Given the description of an element on the screen output the (x, y) to click on. 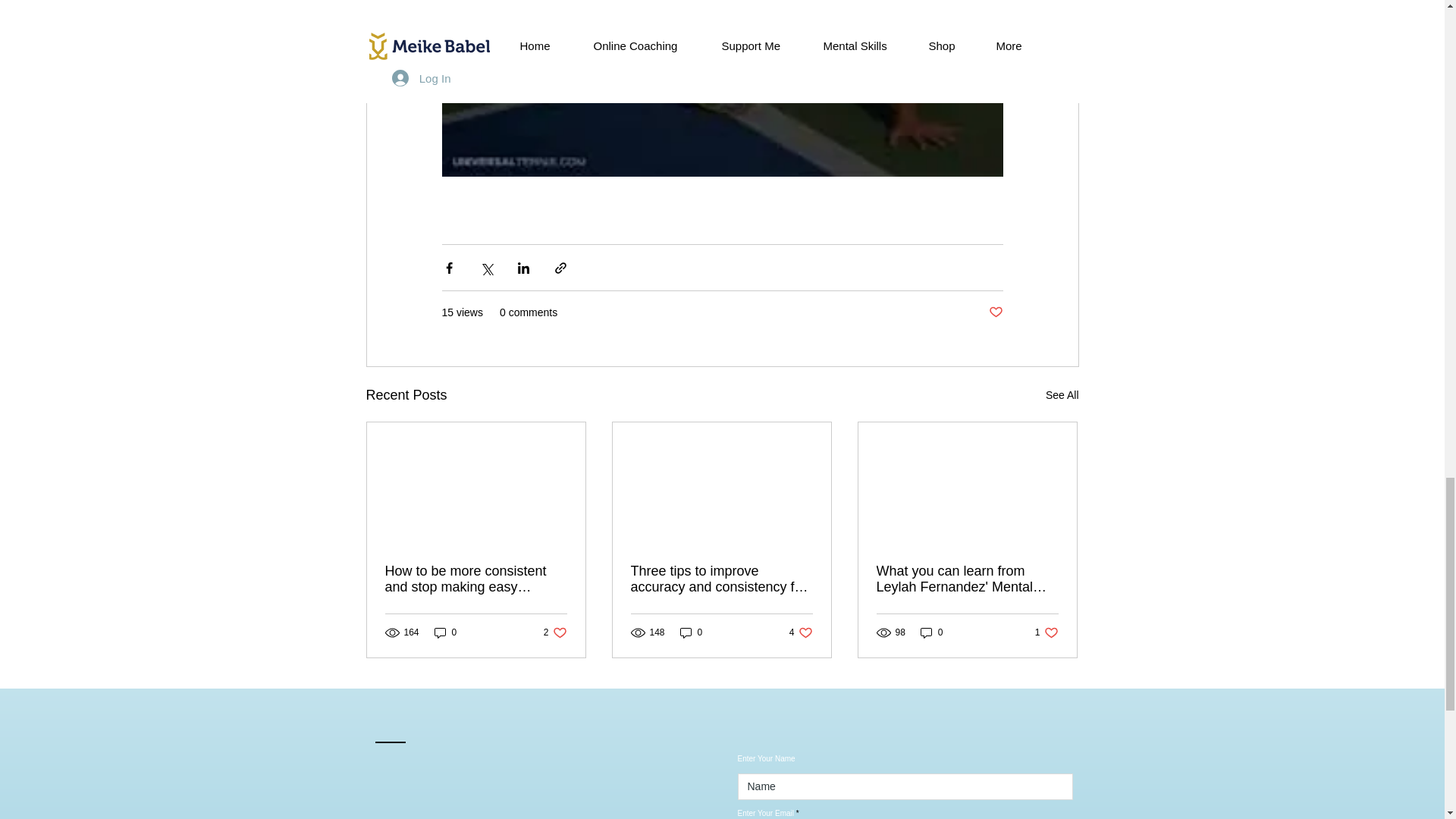
How to be more consistent and stop making easy mistakes (476, 579)
Post not marked as liked (1046, 631)
What you can learn from Leylah Fernandez' Mental Toughness (555, 631)
See All (995, 312)
0 (967, 579)
0 (1061, 395)
